Given the description of an element on the screen output the (x, y) to click on. 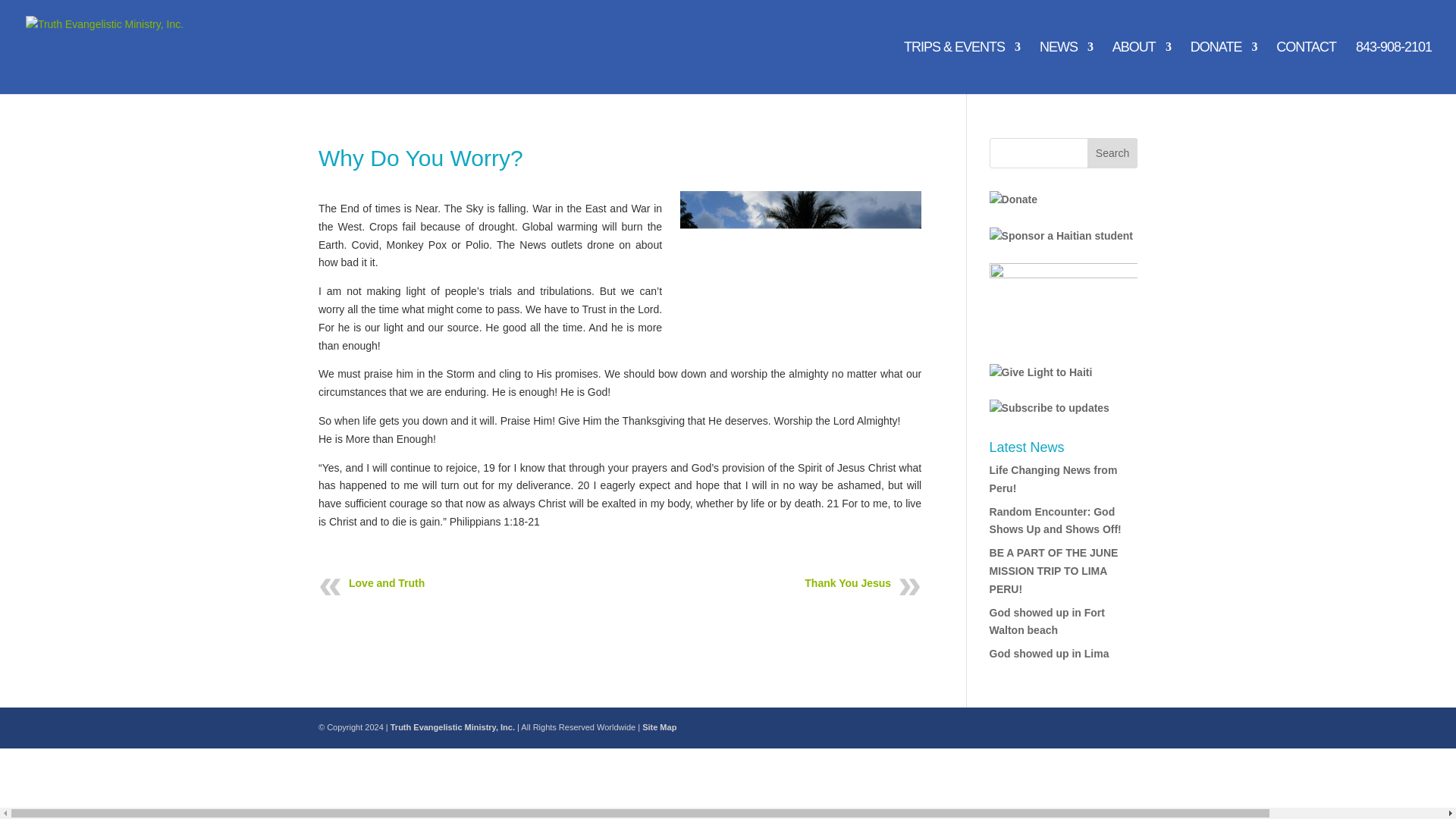
Search (1112, 153)
NEWS (1066, 67)
843-908-2101 (1393, 67)
Thank You Jesus (848, 582)
CONTACT (1306, 67)
Love and Truth (387, 582)
Search (1112, 153)
ABOUT (1141, 67)
Truth Evangelistic Ministry, Inc. (452, 727)
DONATE (1224, 67)
